Given the description of an element on the screen output the (x, y) to click on. 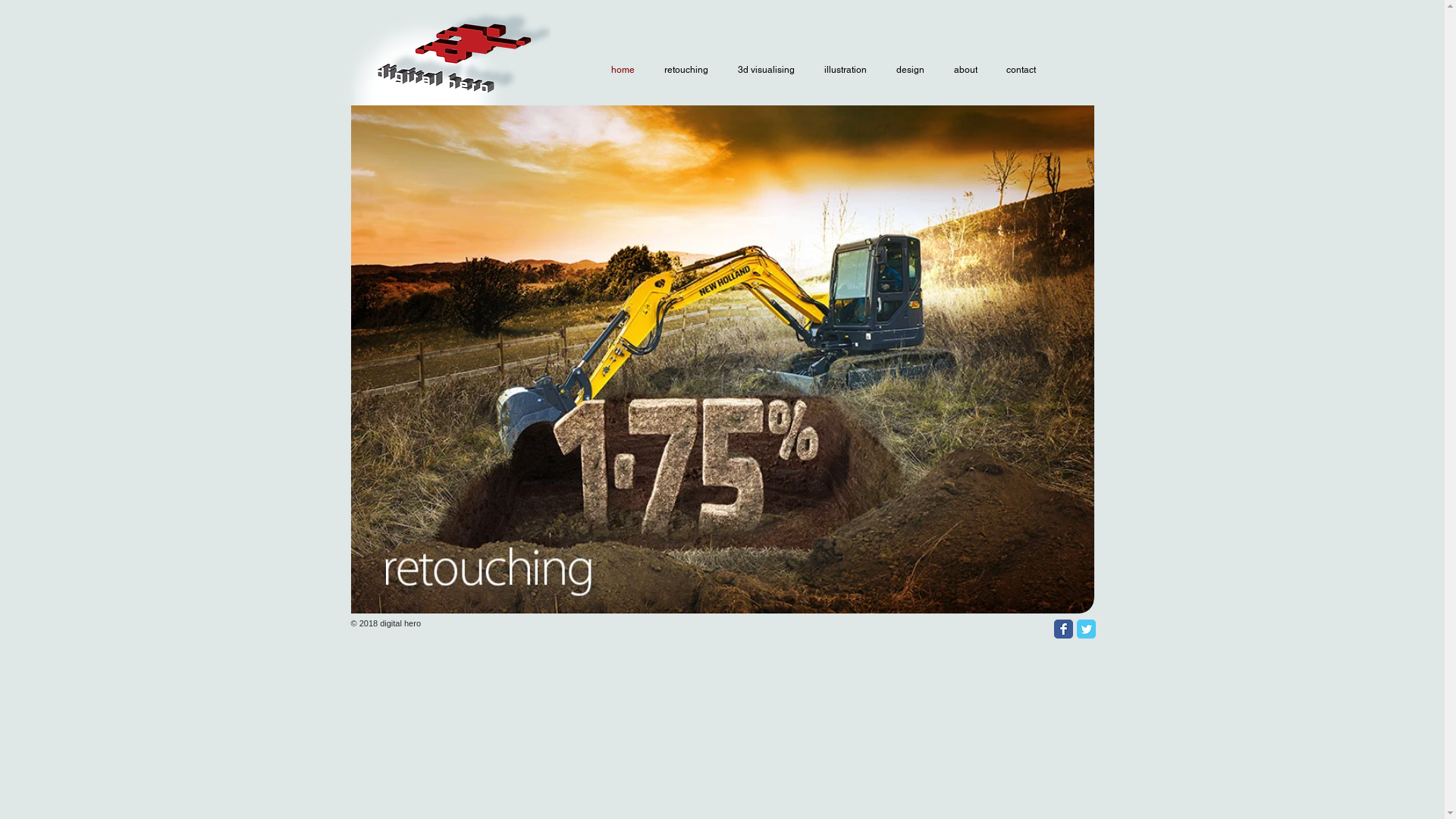
design Element type: text (908, 69)
home Element type: text (620, 69)
retouching Element type: text (684, 69)
contact Element type: text (1019, 69)
about Element type: text (963, 69)
DH 3D glow logo.png Element type: hover (445, 104)
3d visualising Element type: text (763, 69)
illustration Element type: text (842, 69)
